Given the description of an element on the screen output the (x, y) to click on. 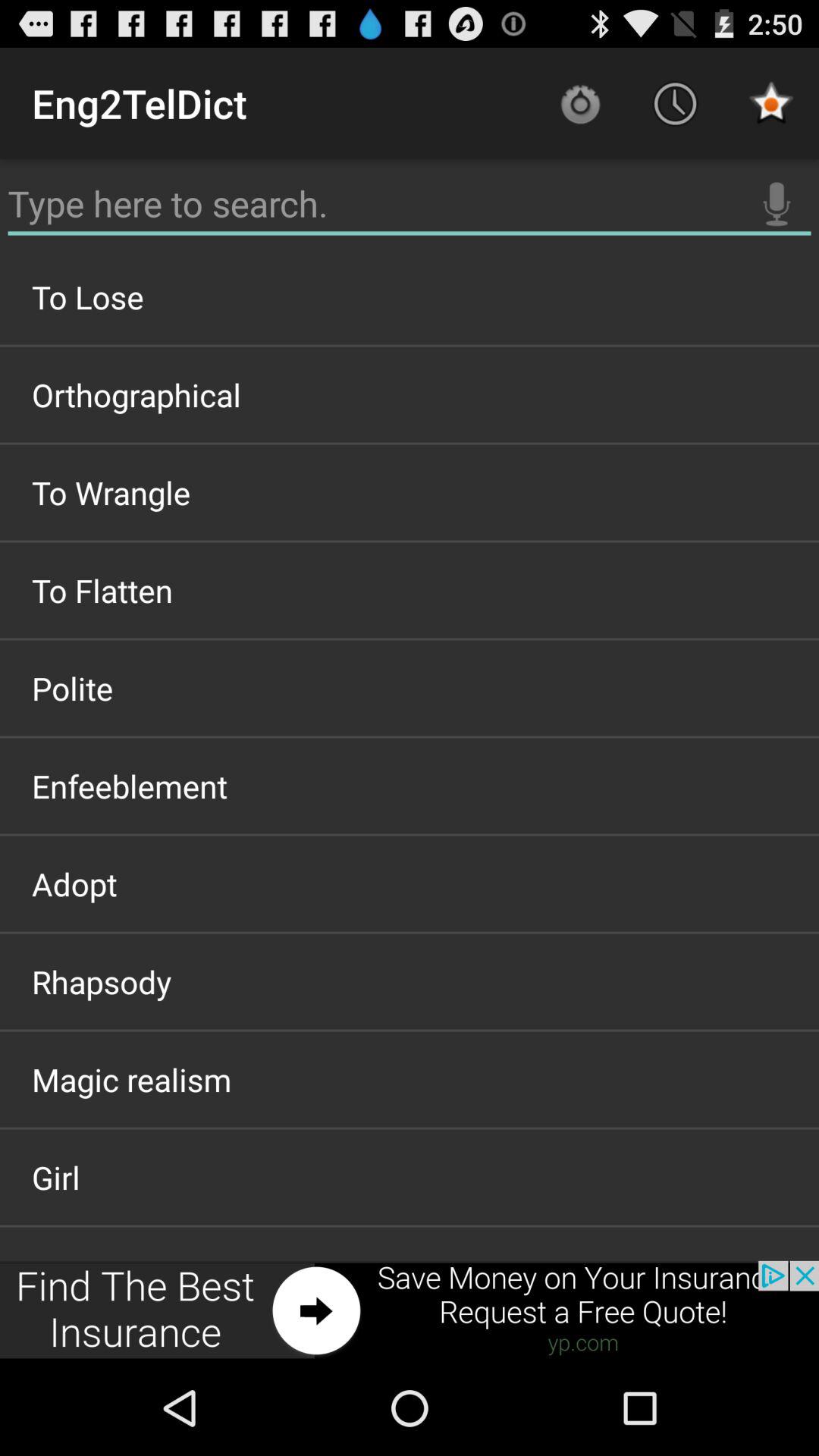
select item above the to lose icon (409, 204)
